Given the description of an element on the screen output the (x, y) to click on. 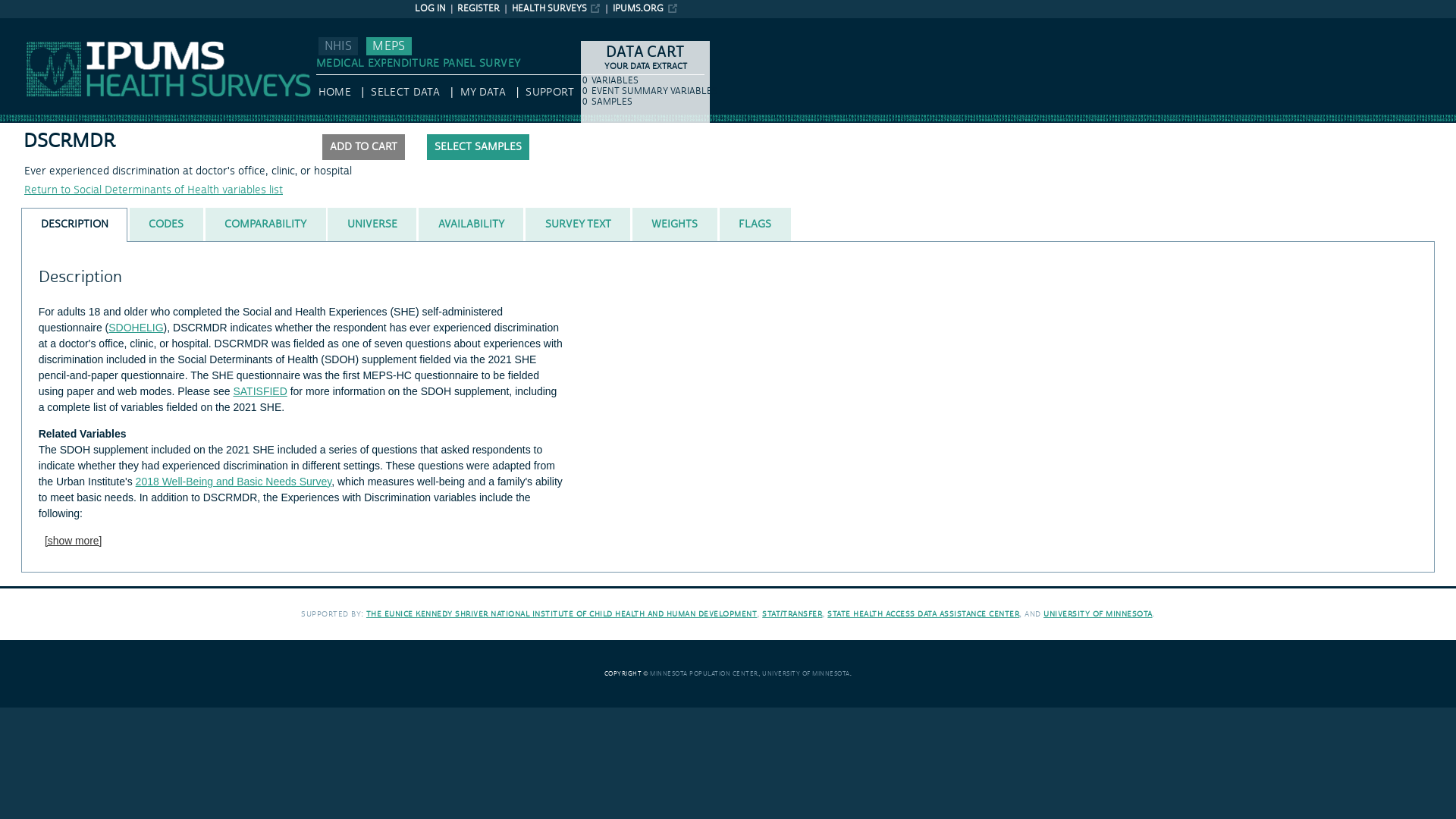
UNIVERSE (371, 224)
AVAILABILITY (470, 224)
Toggle visibility (73, 540)
CODES (166, 224)
IPUMS MEPS (32, 24)
SATISFIED (259, 390)
HEALTH SURVEYS (556, 8)
SUPPORT (549, 92)
DESCRIPTION (73, 224)
UNIVERSITY OF MINNESOTA (1098, 614)
COMPARABILITY (265, 224)
SDOHELIG (135, 327)
tooltip (373, 146)
STATE HEALTH ACCESS DATA ASSISTANCE CENTER (923, 614)
